Given the description of an element on the screen output the (x, y) to click on. 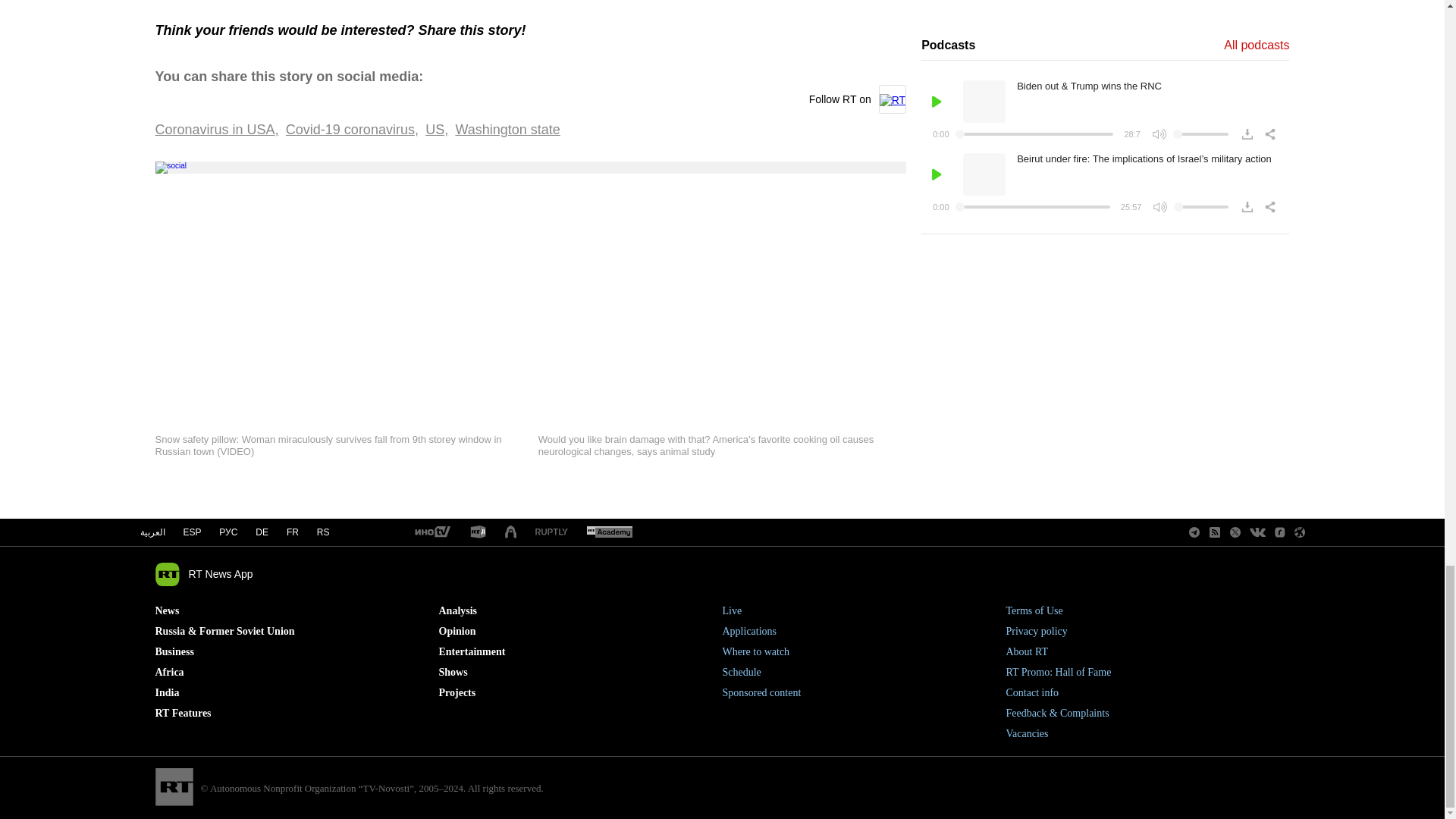
RT  (608, 532)
RT  (551, 532)
RT  (478, 532)
RT  (431, 532)
